Given the description of an element on the screen output the (x, y) to click on. 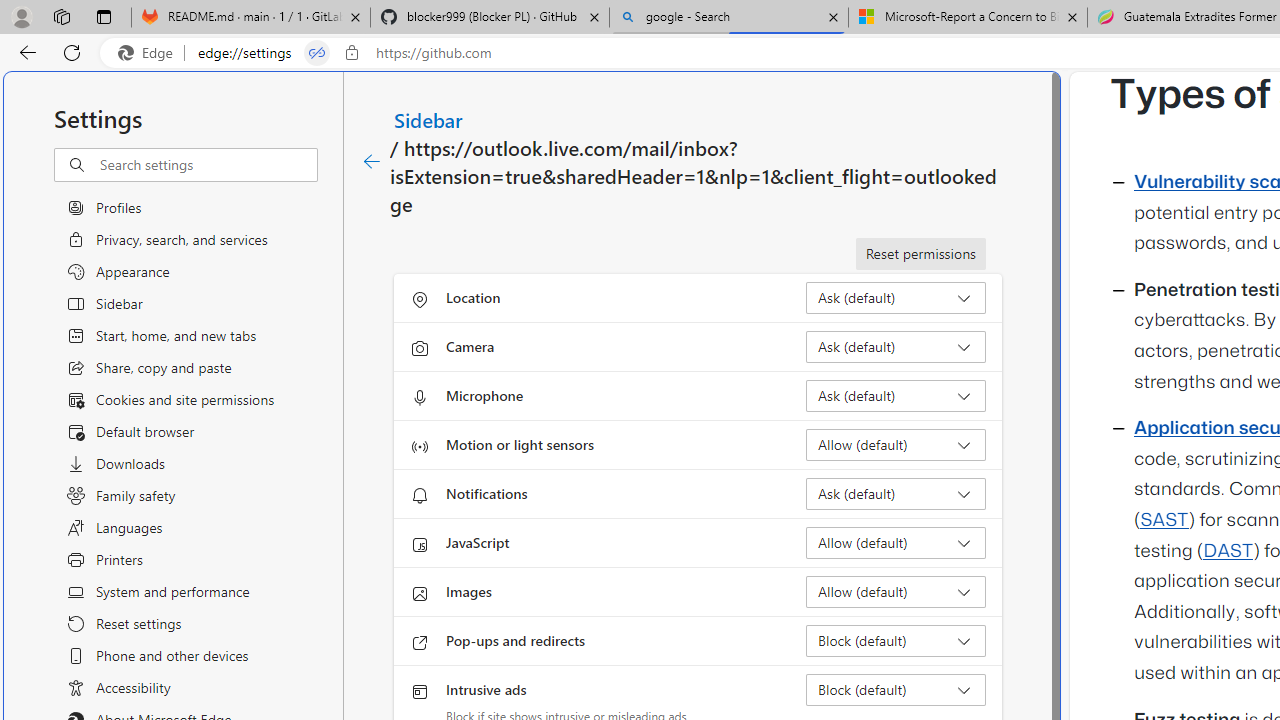
Go back to Sidebar page. (372, 162)
JavaScript Allow (default) (895, 542)
DAST (1228, 551)
Tabs in split screen (317, 53)
Microphone Ask (default) (895, 395)
Intrusive ads Block (default) (895, 689)
Notifications Ask (default) (895, 493)
Reset permissions (920, 254)
